Given the description of an element on the screen output the (x, y) to click on. 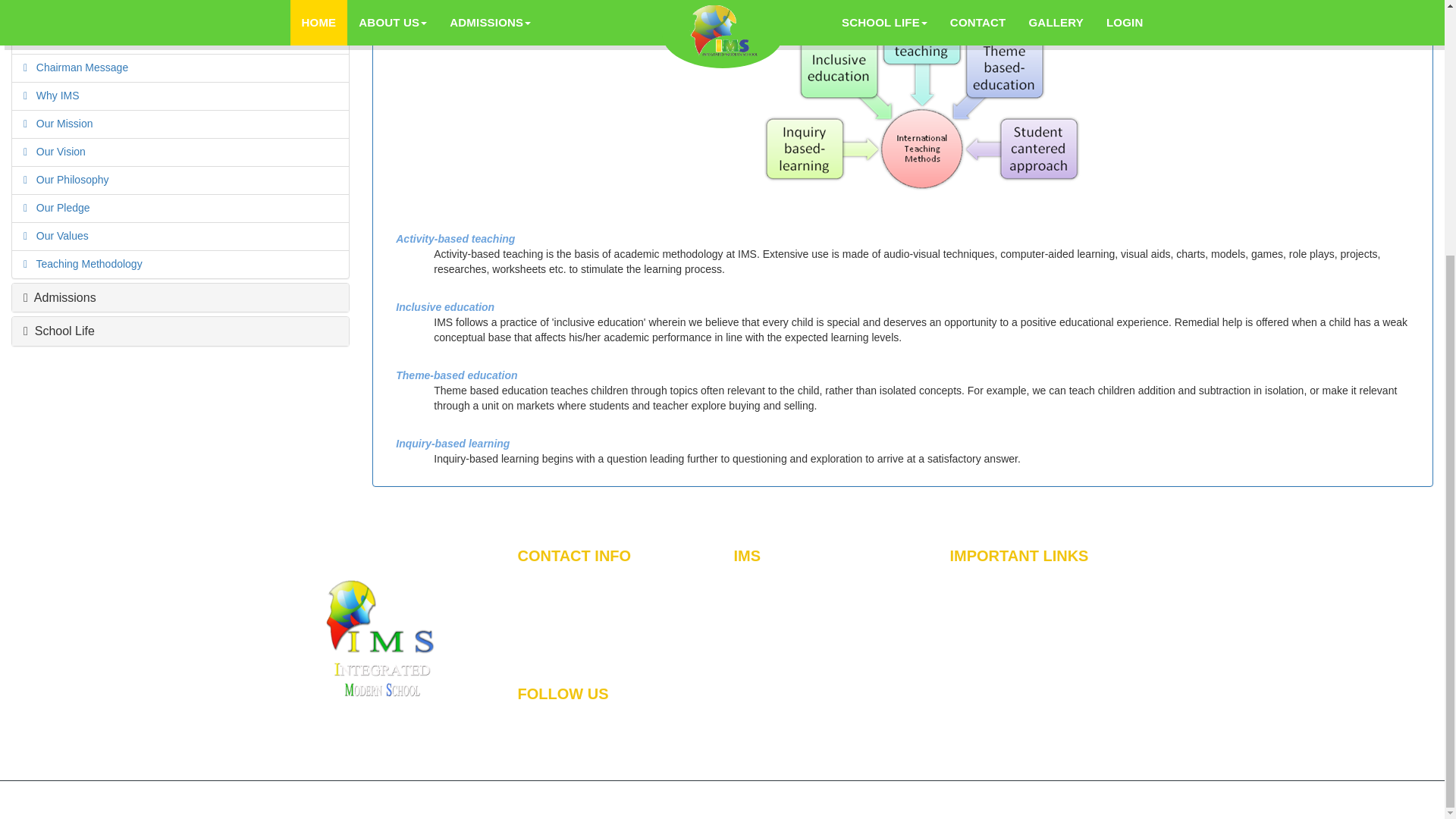
   Our Mission (60, 123)
   Our Vision (56, 151)
   Our Philosophy (67, 179)
   Teaching Methodology (84, 263)
   Our Pledge (58, 207)
   About IMS (55, 39)
   Our Values (57, 235)
  About US (54, 10)
  Admissions (59, 297)
   Why IMS (52, 95)
